Given the description of an element on the screen output the (x, y) to click on. 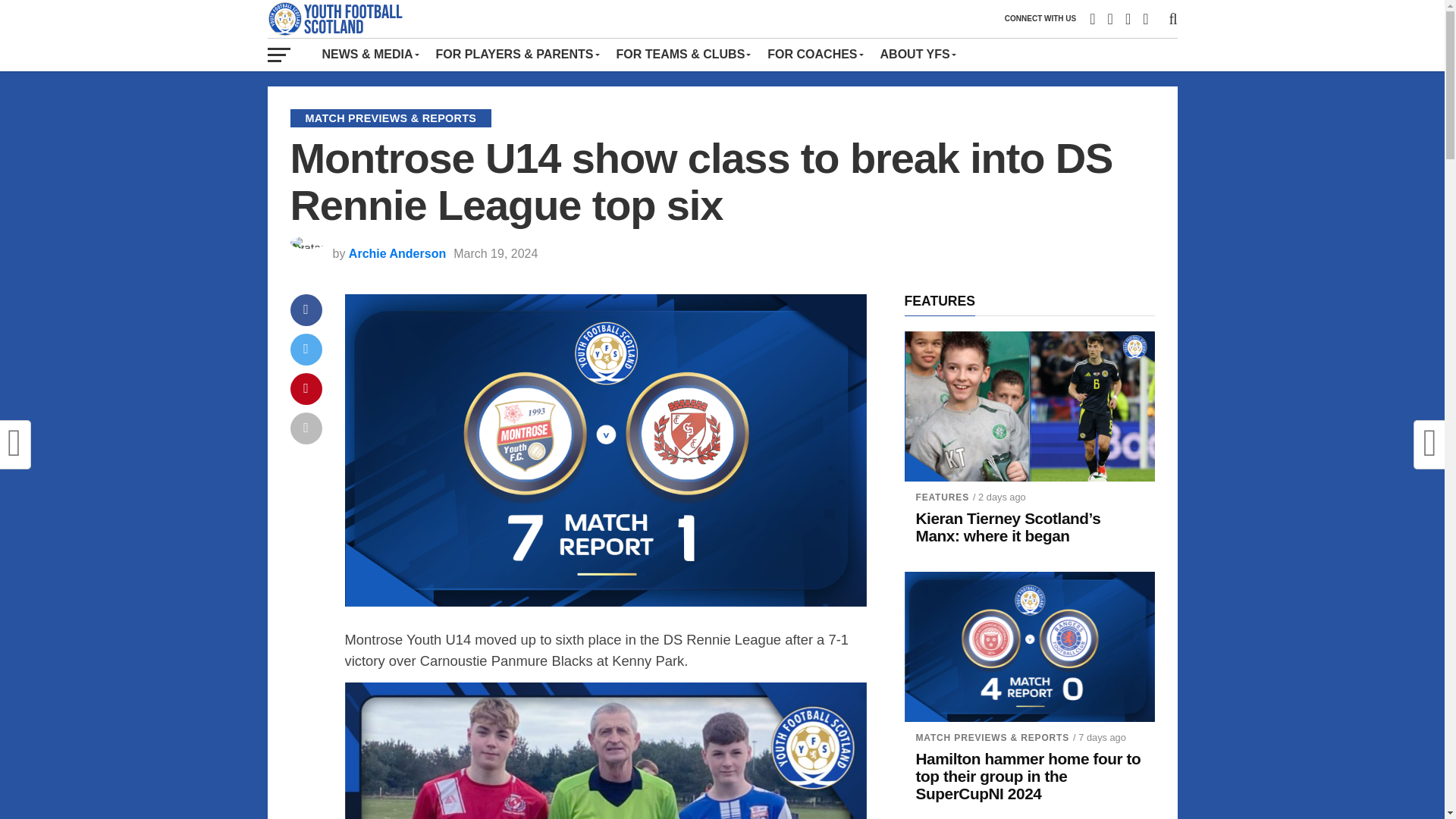
Posts by Archie Anderson (397, 253)
